Given the description of an element on the screen output the (x, y) to click on. 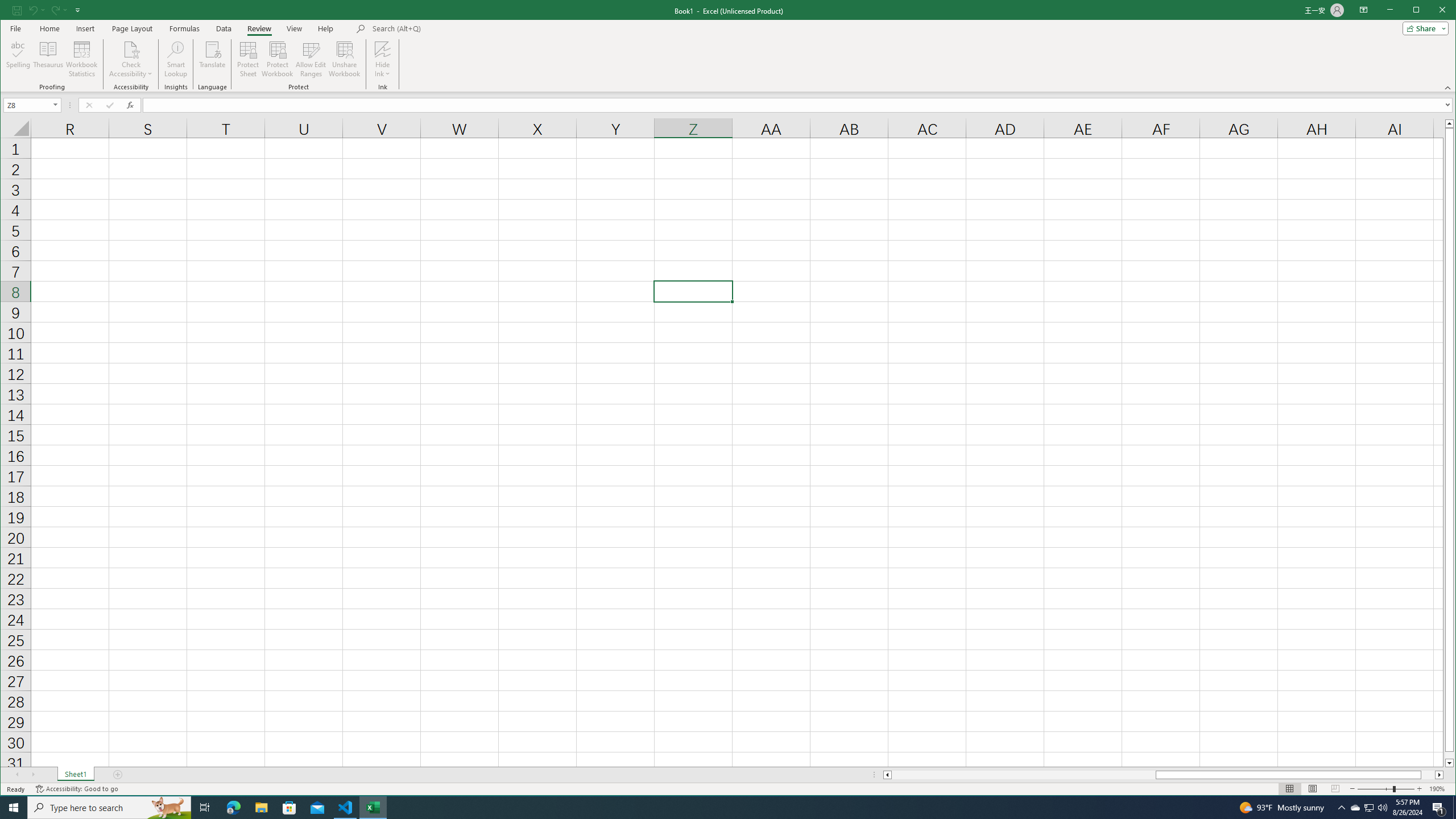
Thesaurus... (48, 59)
Task View (204, 807)
